Given the description of an element on the screen output the (x, y) to click on. 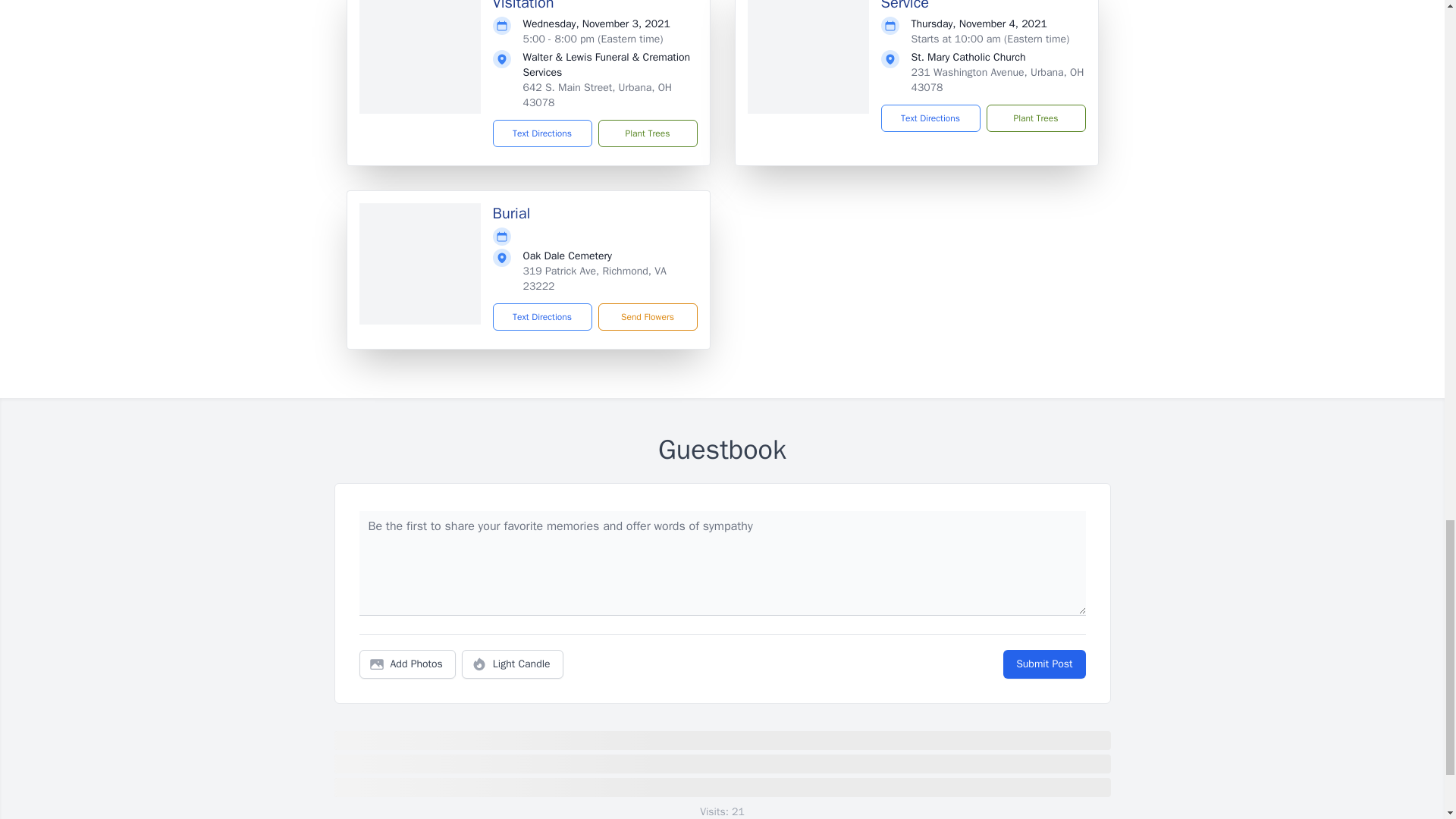
231 Washington Avenue, Urbana, OH 43078 (997, 80)
Plant Trees (646, 133)
Send Flowers (646, 316)
Text Directions (542, 133)
Submit Post (1043, 664)
Light Candle (512, 664)
Add Photos (407, 664)
Plant Trees (1034, 117)
Text Directions (929, 117)
319 Patrick Ave, Richmond, VA 23222 (594, 278)
